Given the description of an element on the screen output the (x, y) to click on. 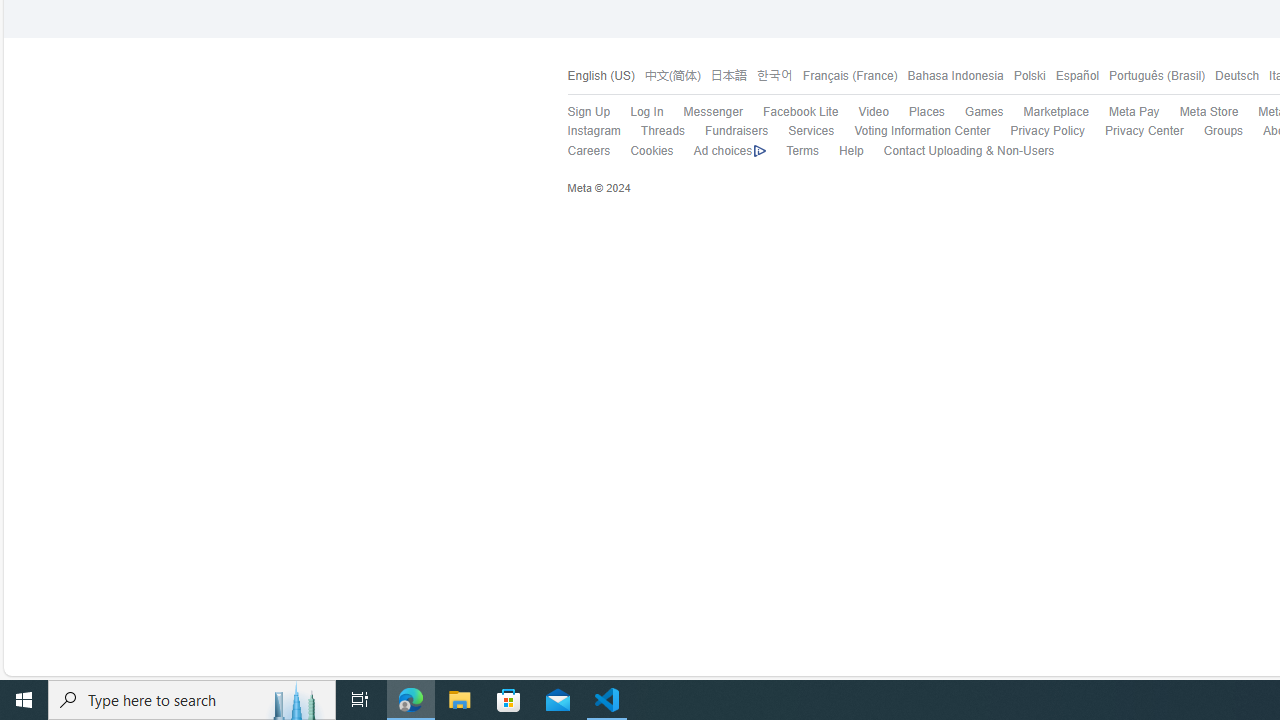
Bahasa Indonesia (955, 76)
Privacy Center (1134, 131)
Messenger (702, 112)
Services (811, 130)
Services (801, 131)
Polski (1024, 75)
Deutsch (1236, 76)
Games (973, 112)
Messenger (712, 112)
Ad choices (729, 151)
Threads (662, 130)
